Given the description of an element on the screen output the (x, y) to click on. 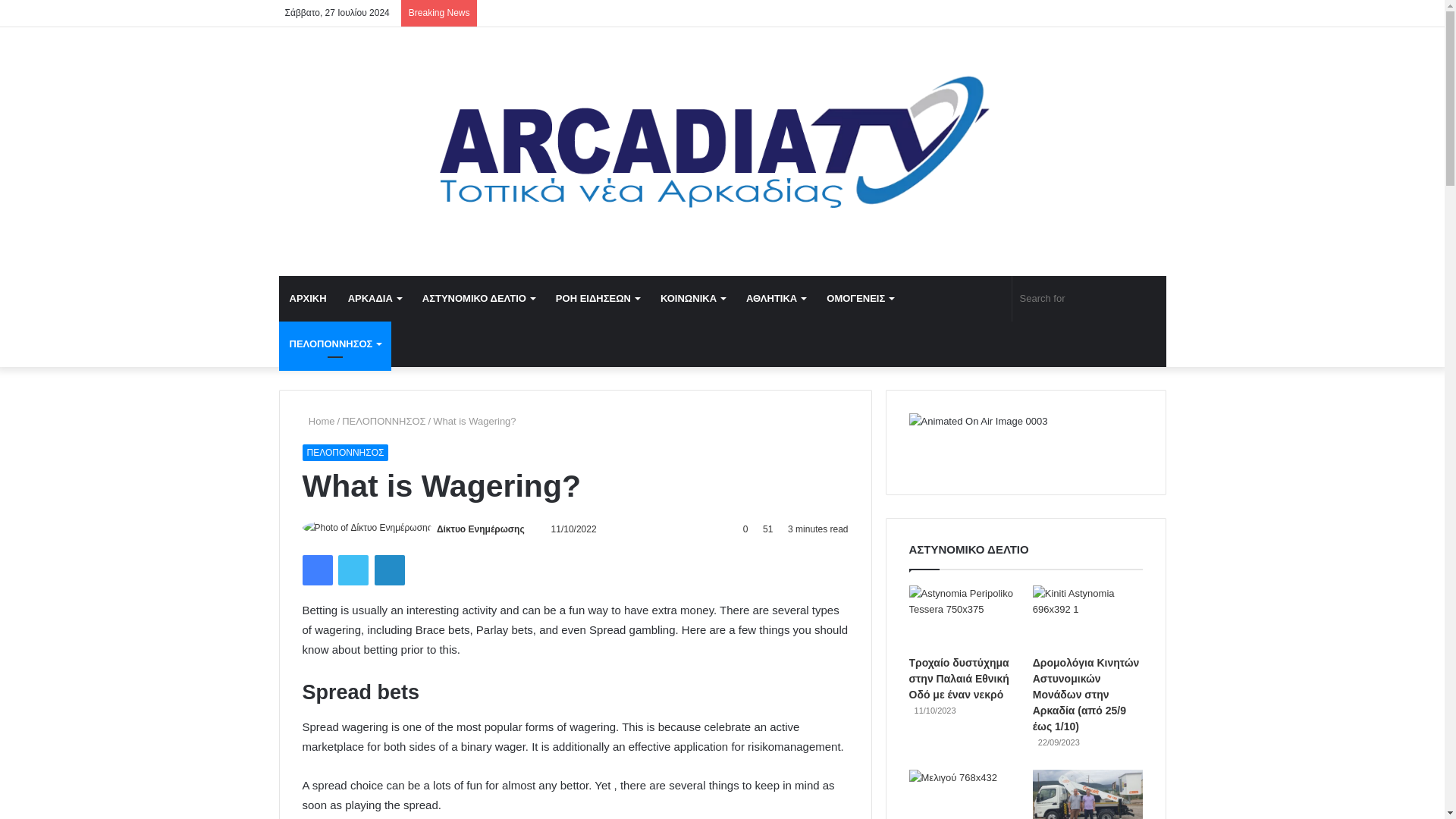
Facebook (316, 570)
Twitter (352, 570)
LinkedIn (389, 570)
Search for (1088, 298)
